Given the description of an element on the screen output the (x, y) to click on. 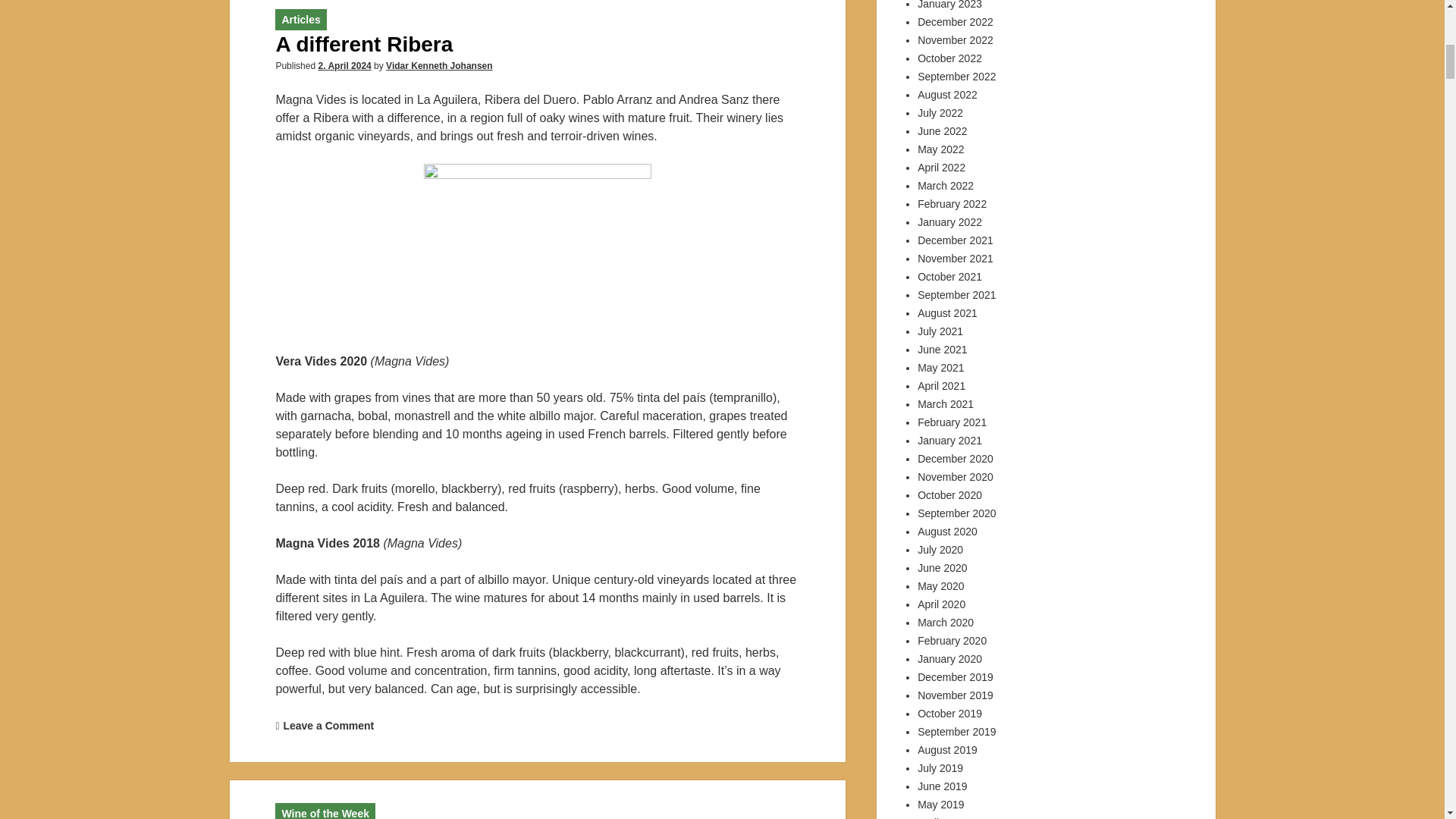
View all posts in Wine of the Week (325, 813)
Articles (300, 19)
2. April 2024 (344, 65)
Vidar Kenneth Johansen (438, 65)
A different Ribera (363, 44)
Wine of the Week (325, 813)
View all posts in Articles (300, 19)
Leave a Comment (328, 725)
